Given the description of an element on the screen output the (x, y) to click on. 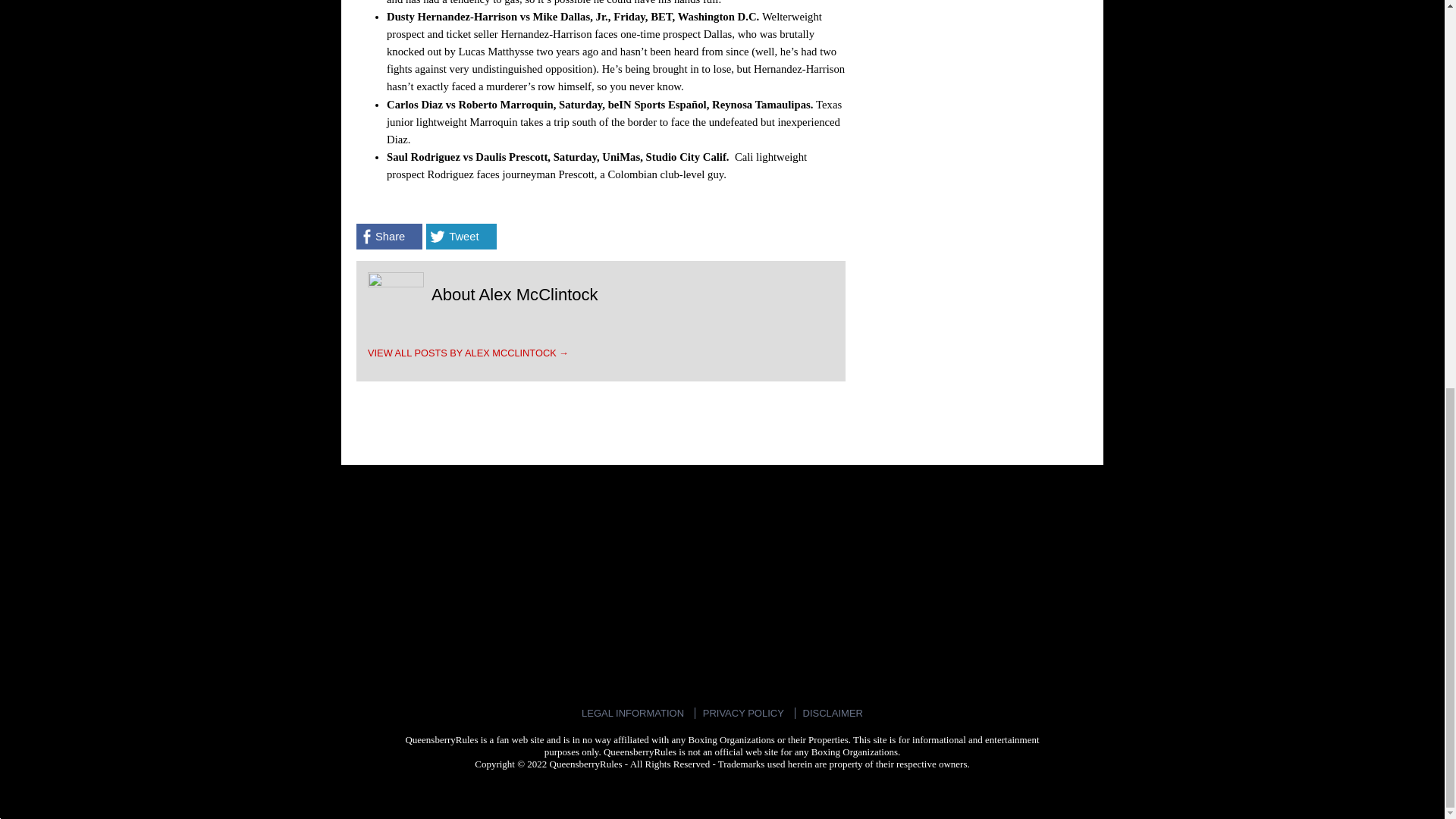
DISCLAIMER (833, 713)
Share (389, 236)
Tweet (461, 236)
PRIVACY POLICY (743, 713)
LEGAL INFORMATION (632, 713)
